Given the description of an element on the screen output the (x, y) to click on. 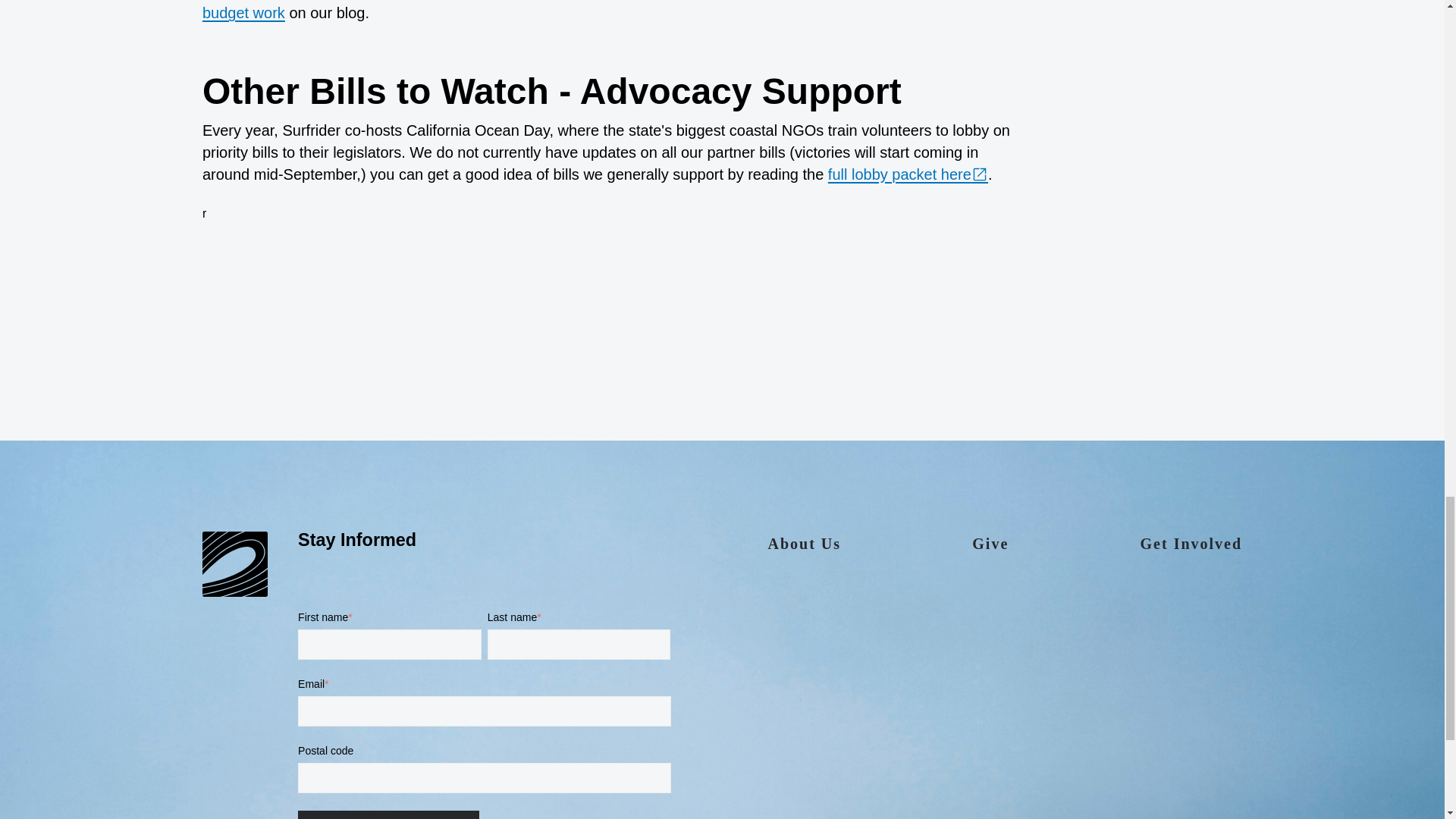
Subscribe (388, 814)
Surfrider Foundation (234, 565)
About Us (804, 551)
Subscribe (388, 814)
full lobby packet here (908, 174)
Give (990, 551)
Get Involved (1191, 551)
2024 budget work (602, 10)
